Given the description of an element on the screen output the (x, y) to click on. 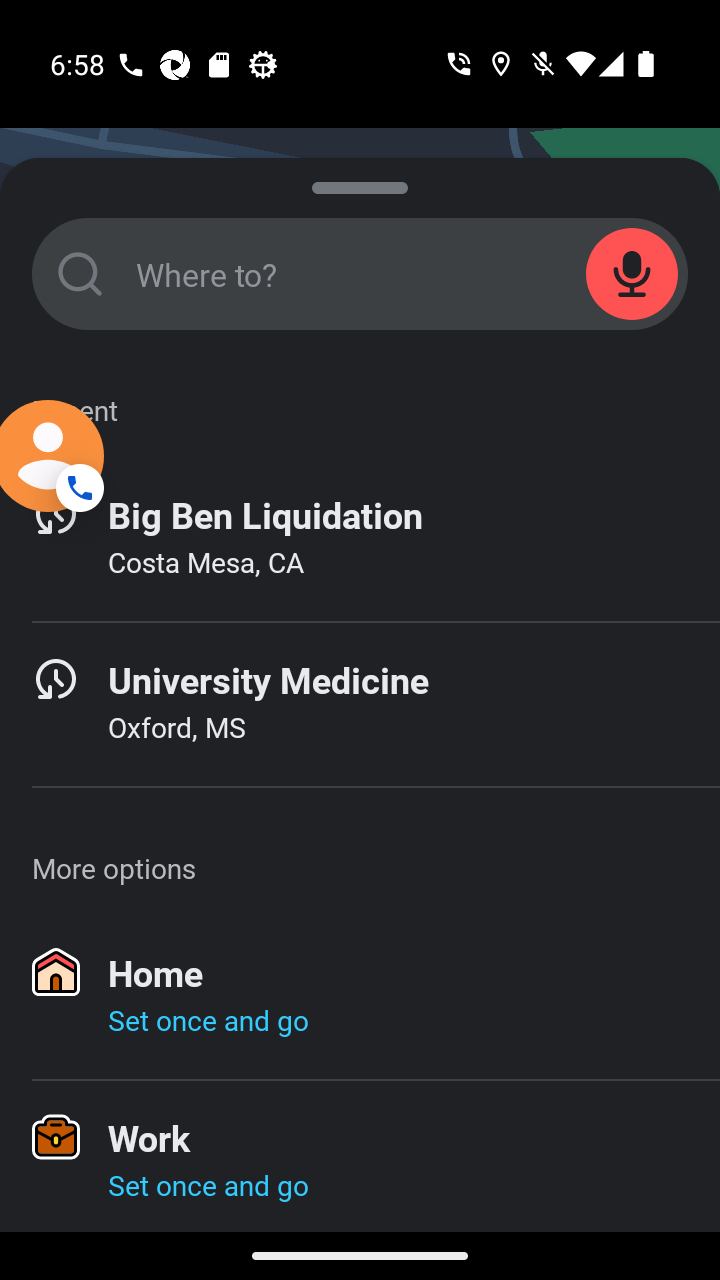
SUGGESTIONS_SHEET_DRAG_HANDLE (359, 183)
START_STATE_SEARCH_FIELD Where to? (359, 273)
Big Ben Liquidation Costa Mesa, CA (360, 539)
University Medicine Oxford, MS (360, 704)
Home Set once and go (360, 997)
Work Set once and go (360, 1156)
